Given the description of an element on the screen output the (x, y) to click on. 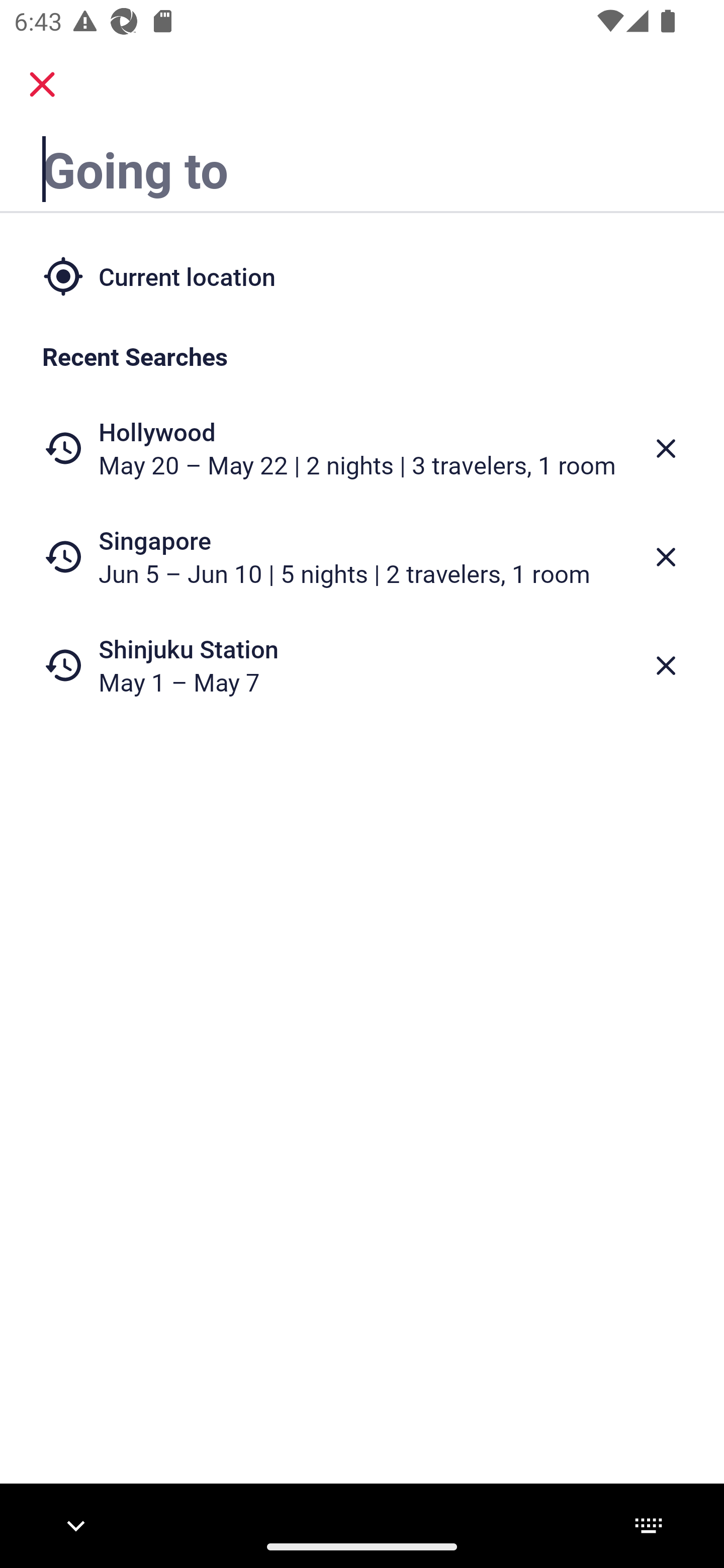
close. (42, 84)
Current location (362, 275)
Delete from recent searches (666, 448)
Delete from recent searches (666, 556)
Shinjuku Station May 1 – May 7 (362, 665)
Delete from recent searches (666, 666)
